Given the description of an element on the screen output the (x, y) to click on. 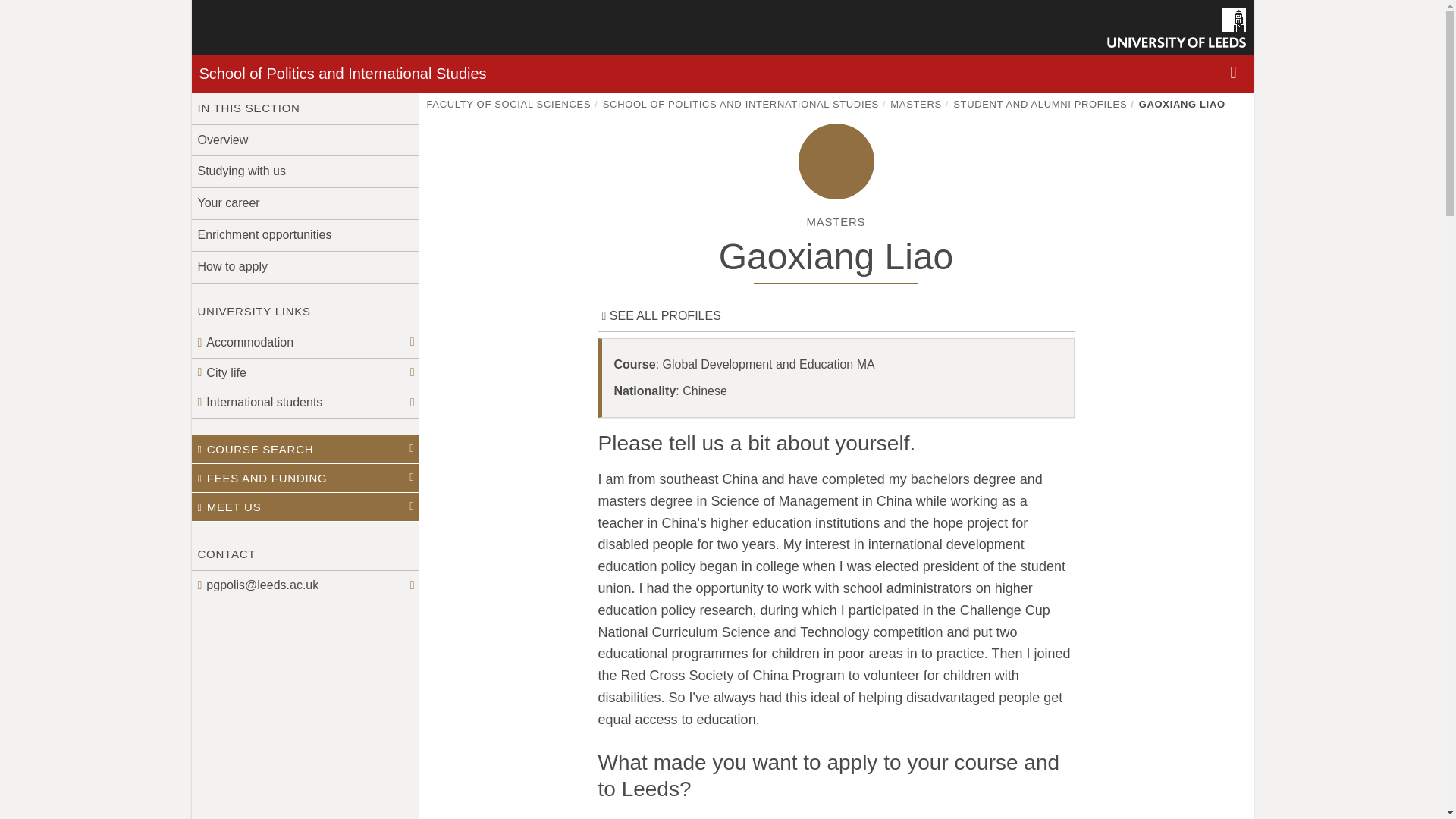
School of Politics and International Studies (342, 73)
University of Leeds homepage (1176, 27)
